Given the description of an element on the screen output the (x, y) to click on. 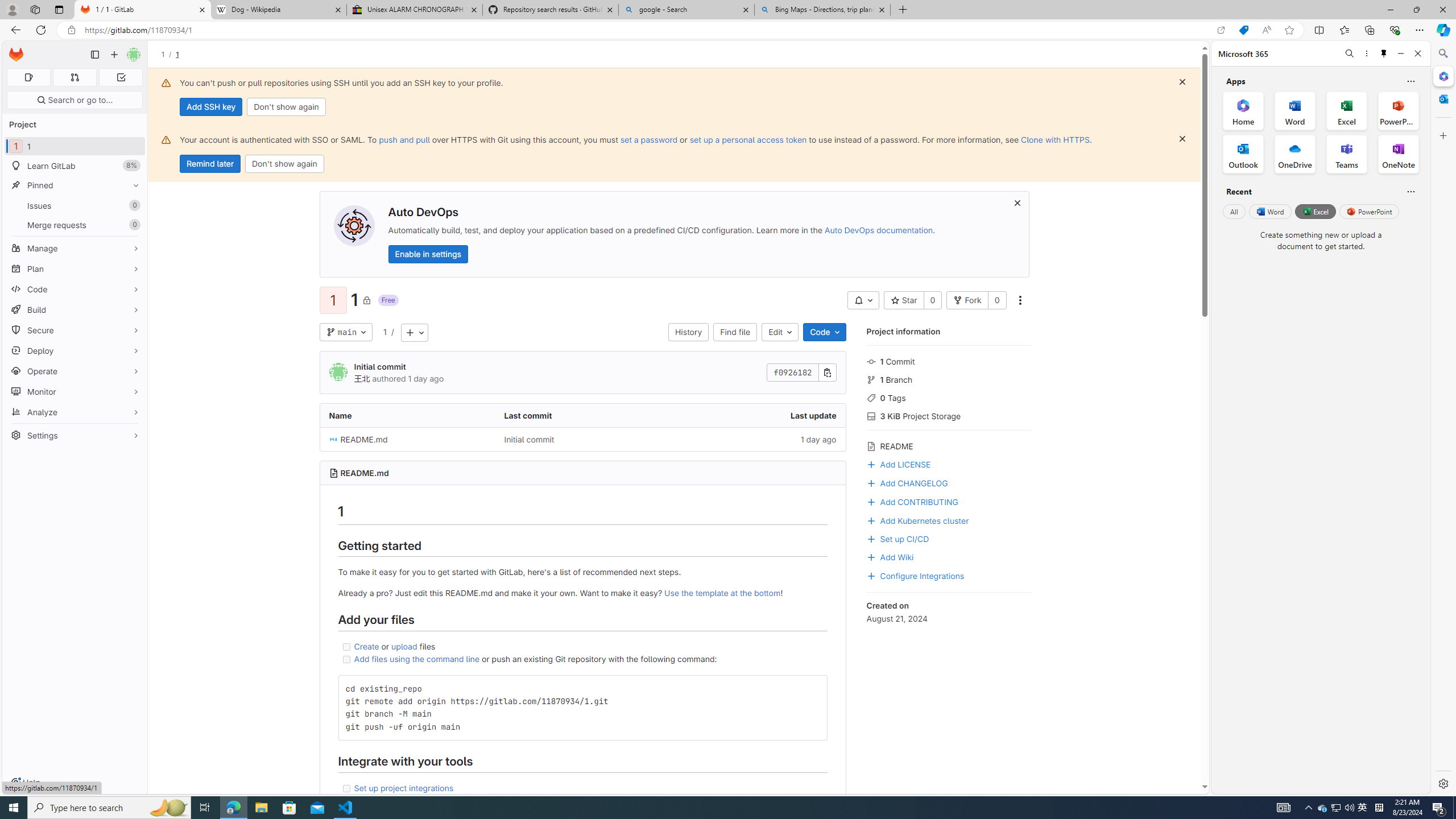
1 Branch (948, 378)
Don't show again (284, 163)
Class: s16 gl-alert-icon gl-alert-icon-no-title (165, 139)
1 day ago (757, 439)
Issues0 (74, 205)
3 KiB Project Storage (948, 415)
Add LICENSE (898, 463)
Open in app (1220, 29)
1 (384, 332)
PowerPoint Office App (1398, 110)
Add to tree (414, 332)
Clone with HTTPS (1054, 139)
Pinned (74, 185)
Dismiss (1181, 138)
